Given the description of an element on the screen output the (x, y) to click on. 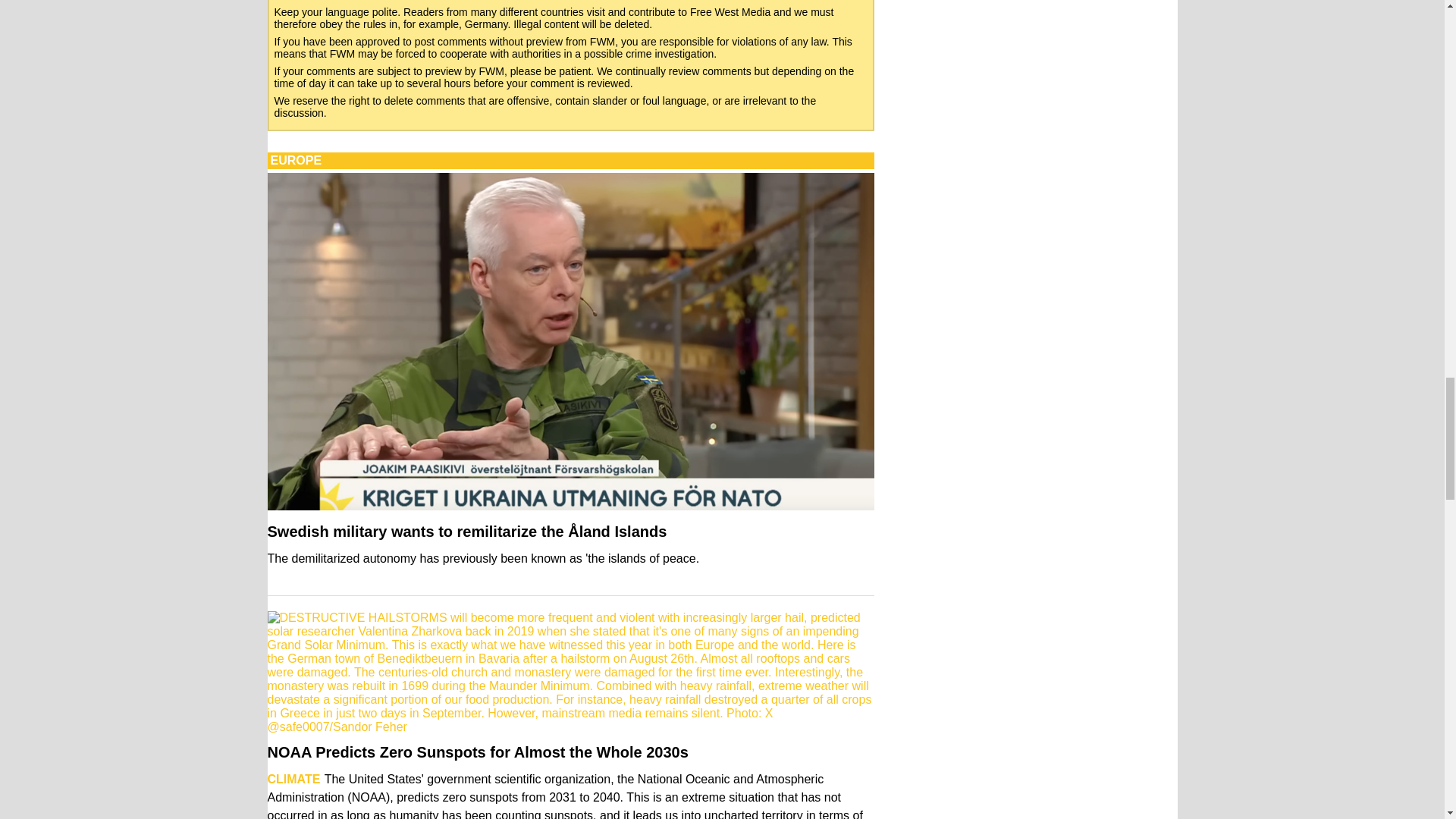
CLIMATE (293, 779)
NOAA Predicts Zero Sunspots for Almost the Whole 2030s (476, 751)
NOAA Predicts Zero Sunspots for Almost the Whole 2030s (476, 751)
